Given the description of an element on the screen output the (x, y) to click on. 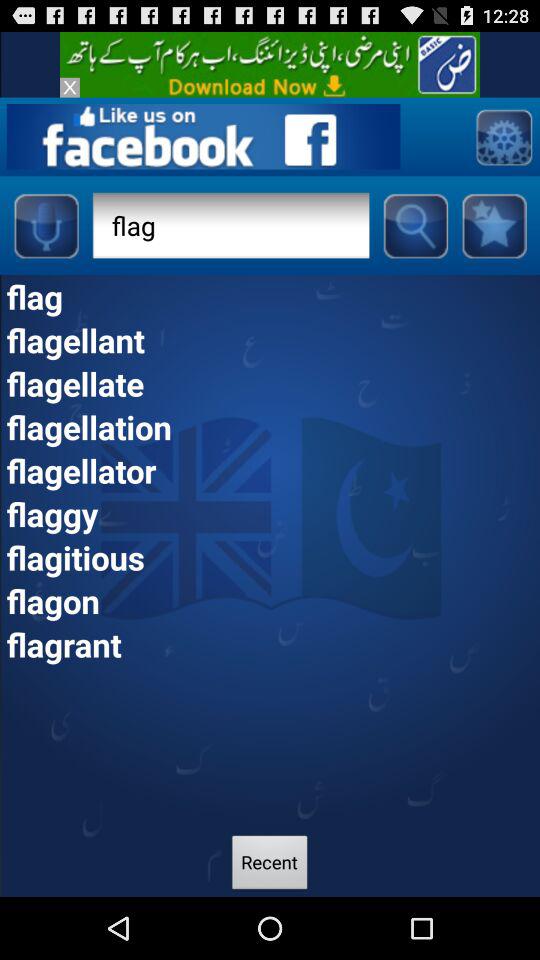
advertisement button (270, 64)
